Given the description of an element on the screen output the (x, y) to click on. 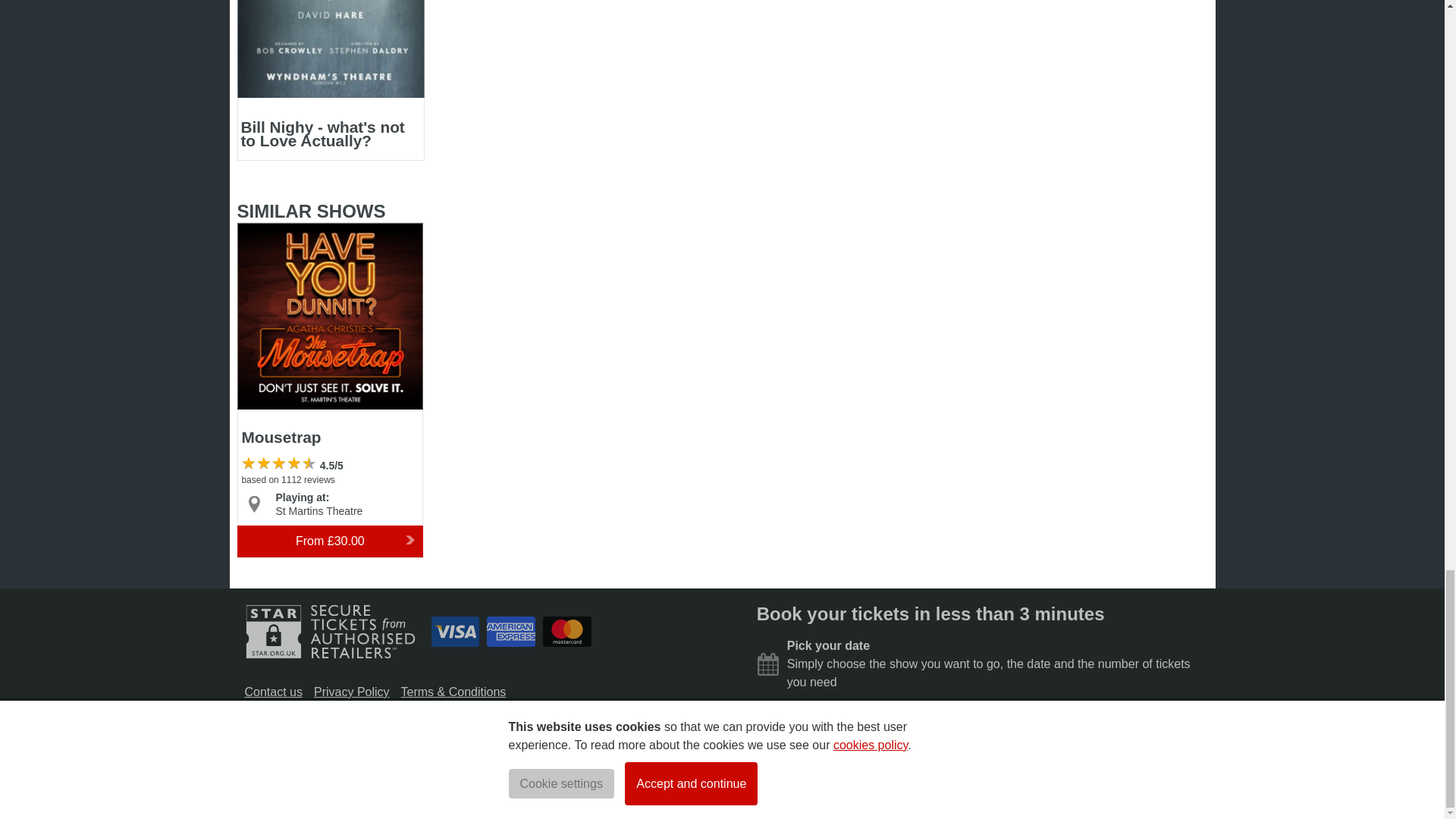
London Theatre Tickets (358, 783)
visa (455, 631)
STAR - Secure Tickets From Authorised Retailers (329, 631)
Mousetrap (329, 315)
Bill Nighy - what's not to Love Actually? (330, 48)
St Martins Theatre (319, 510)
Bill Nighy - what's not to Love Actually? (329, 79)
Contact us (272, 691)
Privacy Policy (352, 691)
Bill Nighy - what's not to Love Actually? (329, 79)
